Given the description of an element on the screen output the (x, y) to click on. 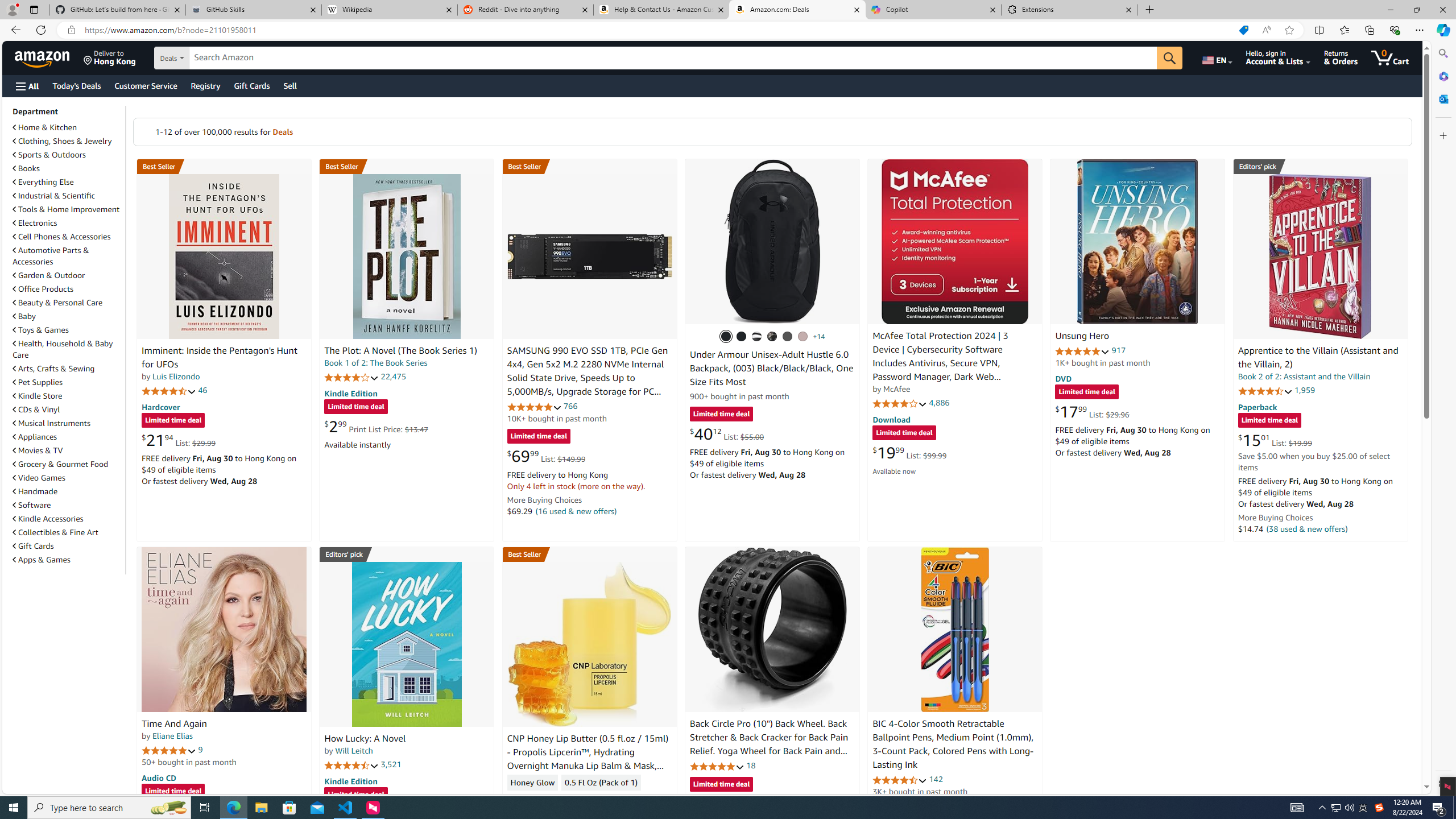
Software (31, 504)
Baby (24, 316)
Musical Instruments (51, 422)
$21.94 List: $29.99 (178, 439)
(38 used & new offers) (1307, 528)
Luis Elizondo (175, 376)
Editors' pick Best Science Fiction & Fantasy (1320, 165)
4.6 out of 5 stars (899, 779)
142 (935, 778)
Eliane Elias (171, 735)
Returns & Orders (1340, 57)
